Given the description of an element on the screen output the (x, y) to click on. 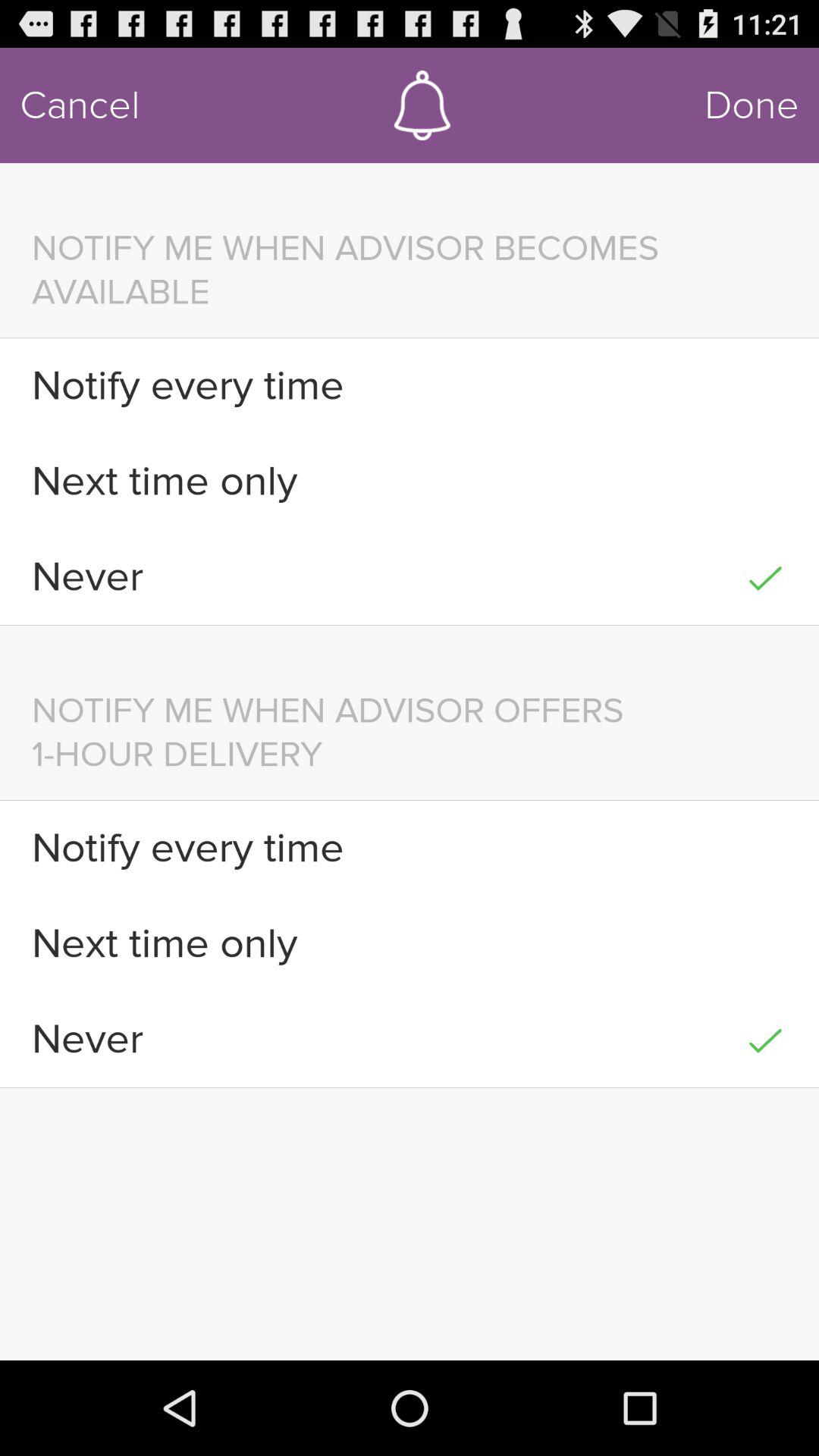
choose icon next to the never icon (765, 576)
